Given the description of an element on the screen output the (x, y) to click on. 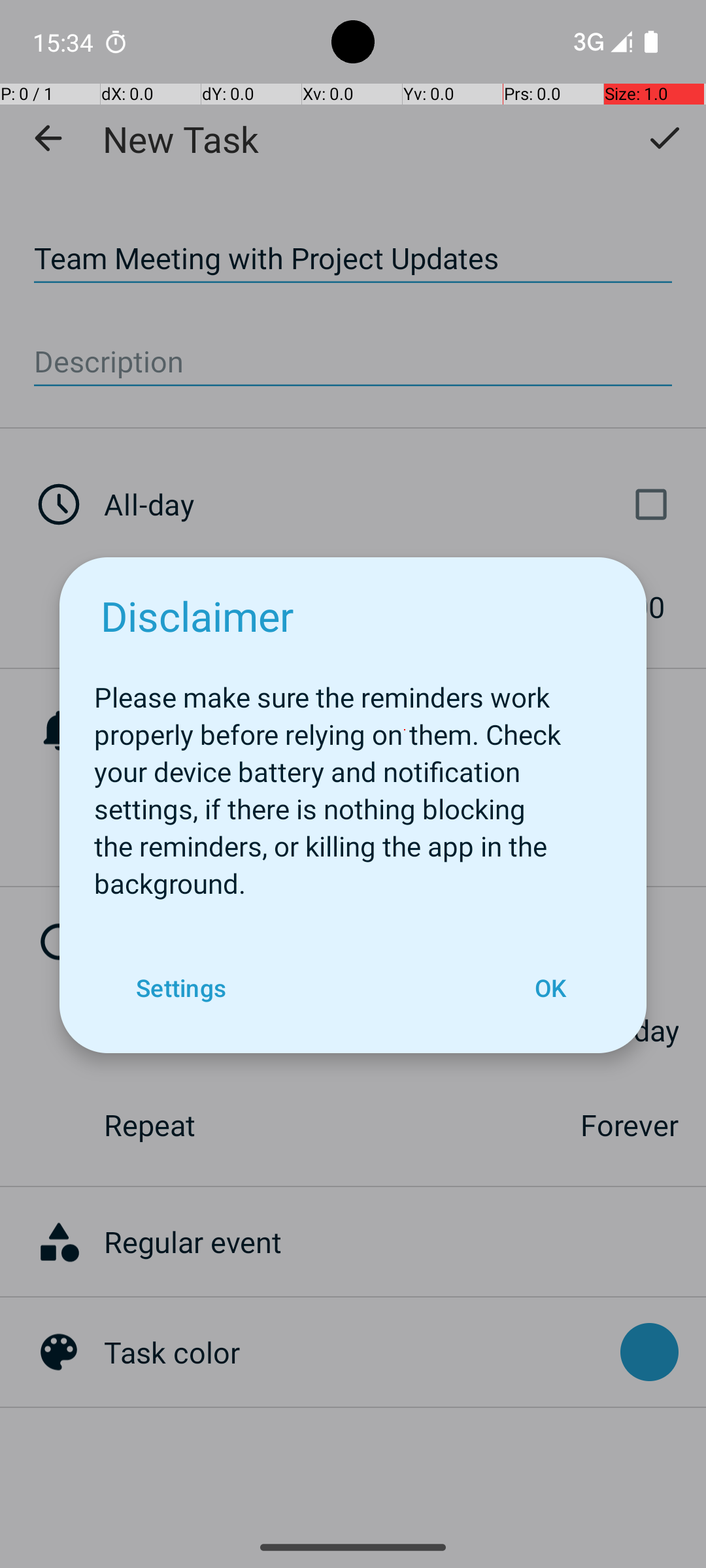
Disclaimer Element type: android.widget.TextView (196, 615)
Please make sure the reminders work properly before relying on them. Check your device battery and notification settings, if there is nothing blocking the reminders, or killing the app in the background. Element type: android.widget.TextView (352, 782)
